Given the description of an element on the screen output the (x, y) to click on. 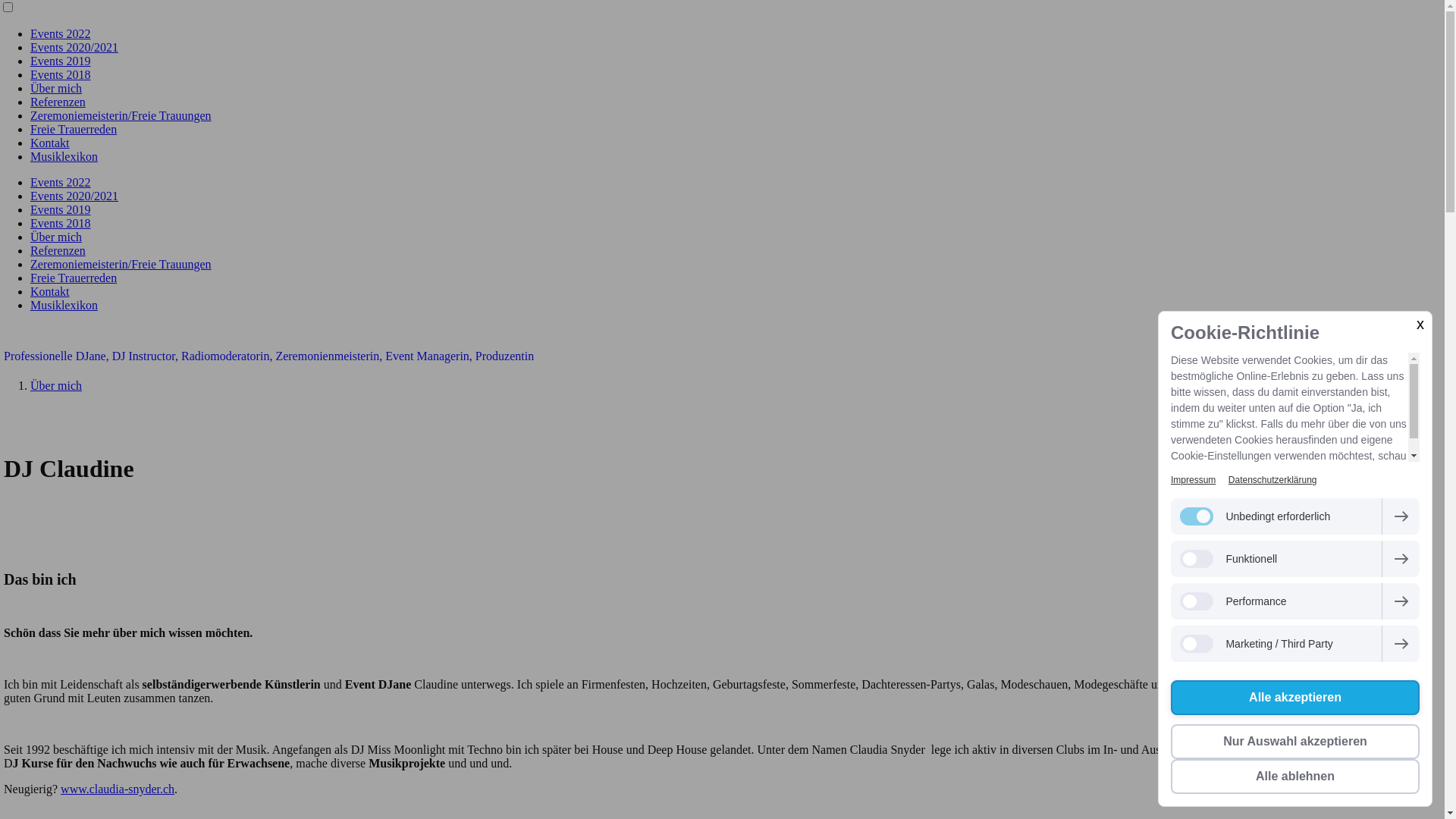
Musiklexikon Element type: text (63, 304)
Events 2020/2021 Element type: text (74, 195)
www.claudia-snyder.ch Element type: text (117, 788)
Events 2018 Element type: text (60, 74)
Freie Trauerreden Element type: text (73, 128)
Kontakt Element type: text (49, 291)
Events 2019 Element type: text (60, 60)
Zeremoniemeisterin/Freie Trauungen Element type: text (120, 263)
Events 2019 Element type: text (60, 209)
Events 2022 Element type: text (60, 33)
Events 2018 Element type: text (60, 222)
Alle akzeptieren Element type: text (1294, 697)
Events 2020/2021 Element type: text (74, 46)
Zeremoniemeisterin/Freie Trauungen Element type: text (120, 115)
Musiklexikon Element type: text (63, 156)
Freie Trauerreden Element type: text (73, 277)
Alle ablehnen Element type: text (1294, 776)
Nur Auswahl akzeptieren Element type: text (1294, 741)
Impressum Element type: text (1192, 479)
Referenzen Element type: text (57, 101)
Referenzen Element type: text (57, 250)
Kontakt Element type: text (49, 142)
Events 2022 Element type: text (60, 181)
